Given the description of an element on the screen output the (x, y) to click on. 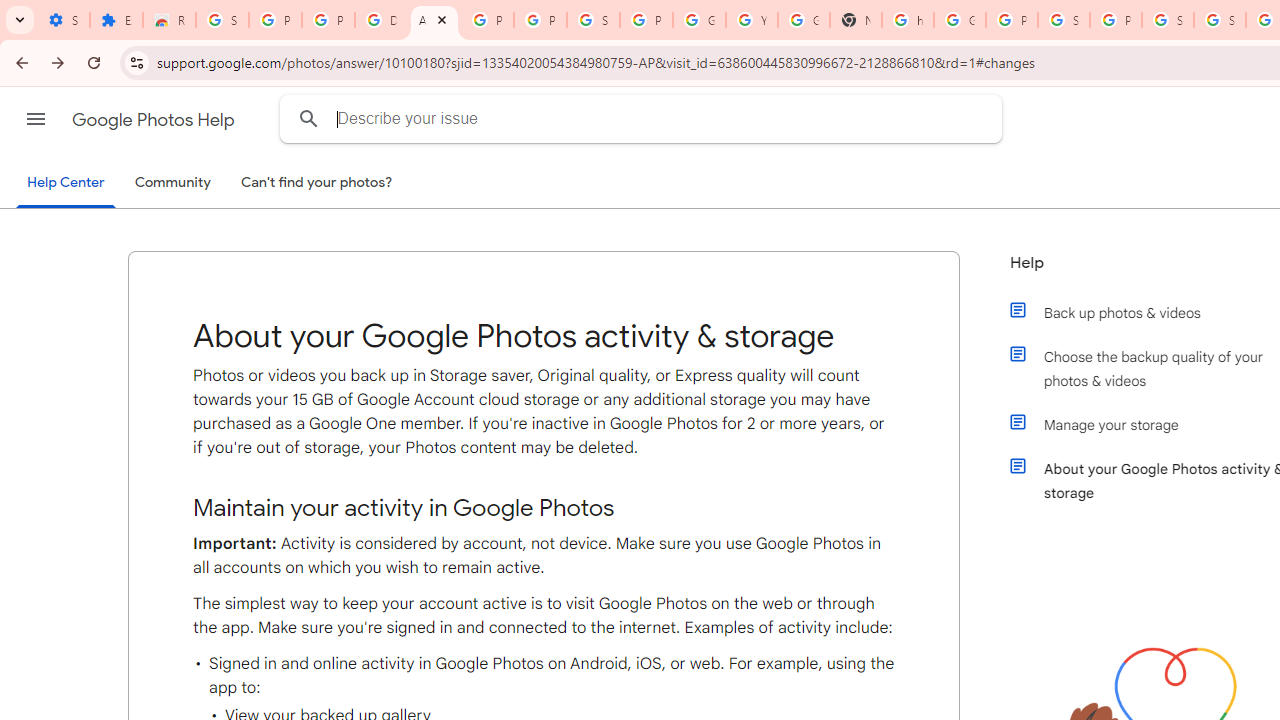
Describe your issue (644, 118)
Reviews: Helix Fruit Jump Arcade Game (169, 20)
Settings - On startup (63, 20)
Can't find your photos? (317, 183)
Search Help Center (309, 118)
Google Photos Help (155, 119)
Main menu (35, 119)
